Given the description of an element on the screen output the (x, y) to click on. 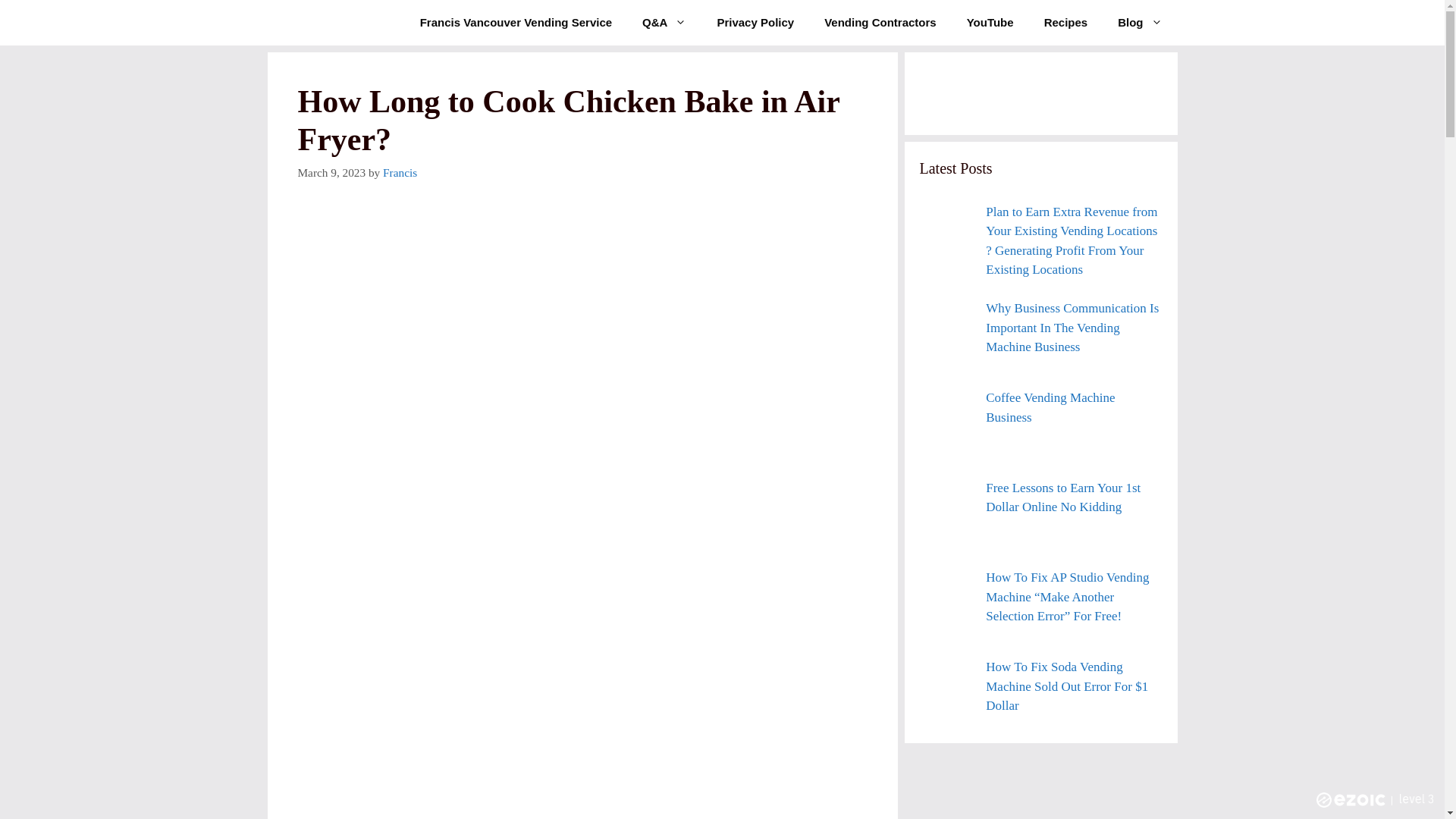
YouTube (990, 22)
View all posts by Francis (399, 172)
Blog (1139, 22)
Privacy Policy (755, 22)
Francis (399, 172)
Vending Contractors (880, 22)
Francis Vancouver Vending Service (515, 22)
Recipes (1066, 22)
